Given the description of an element on the screen output the (x, y) to click on. 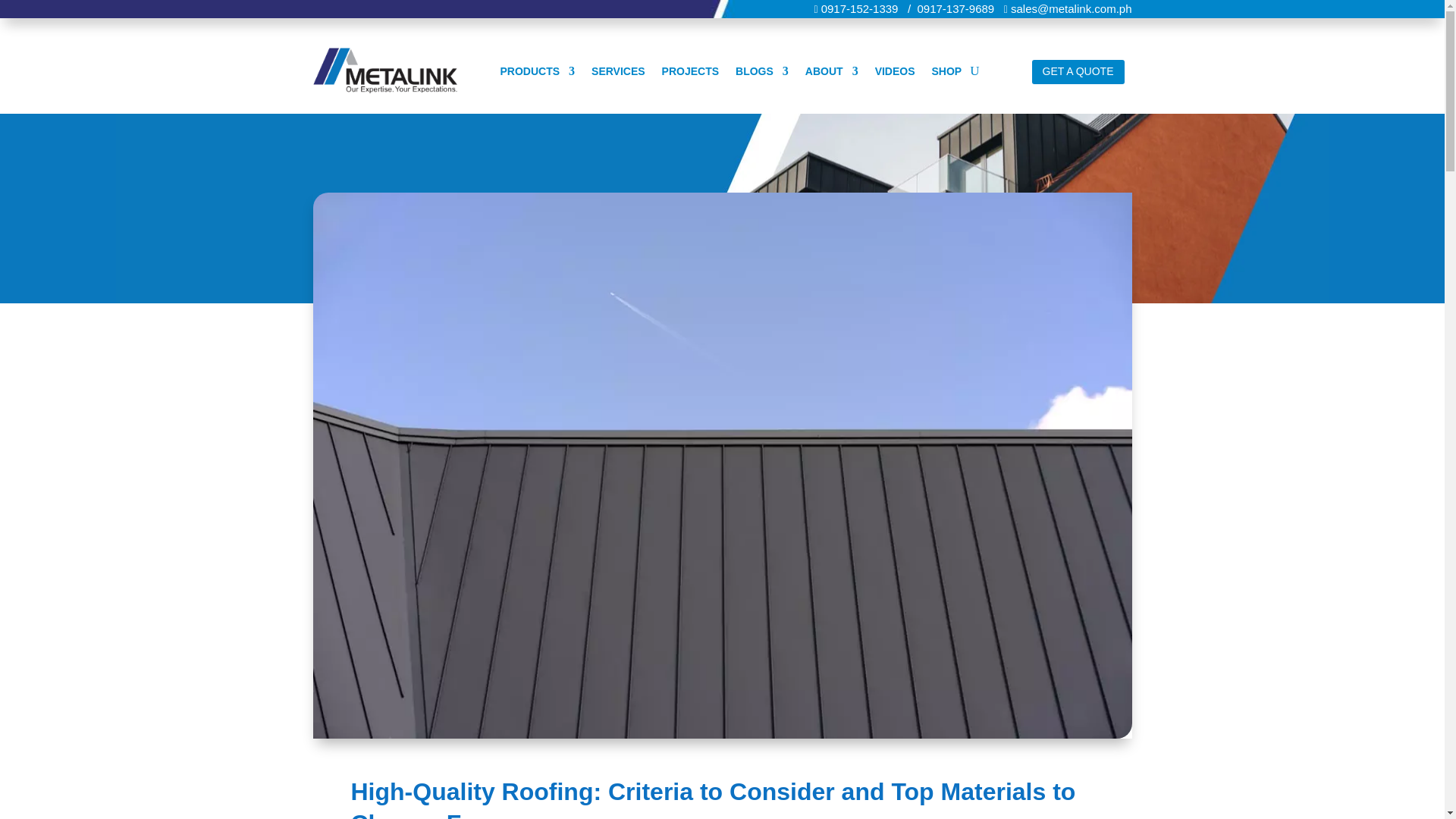
SERVICES (618, 74)
PRODUCTS (537, 74)
VIDEOS (895, 74)
PROJECTS (690, 74)
GET A QUOTE (1078, 71)
SHOP (946, 74)
BLOGS (762, 74)
ABOUT (832, 74)
